Given the description of an element on the screen output the (x, y) to click on. 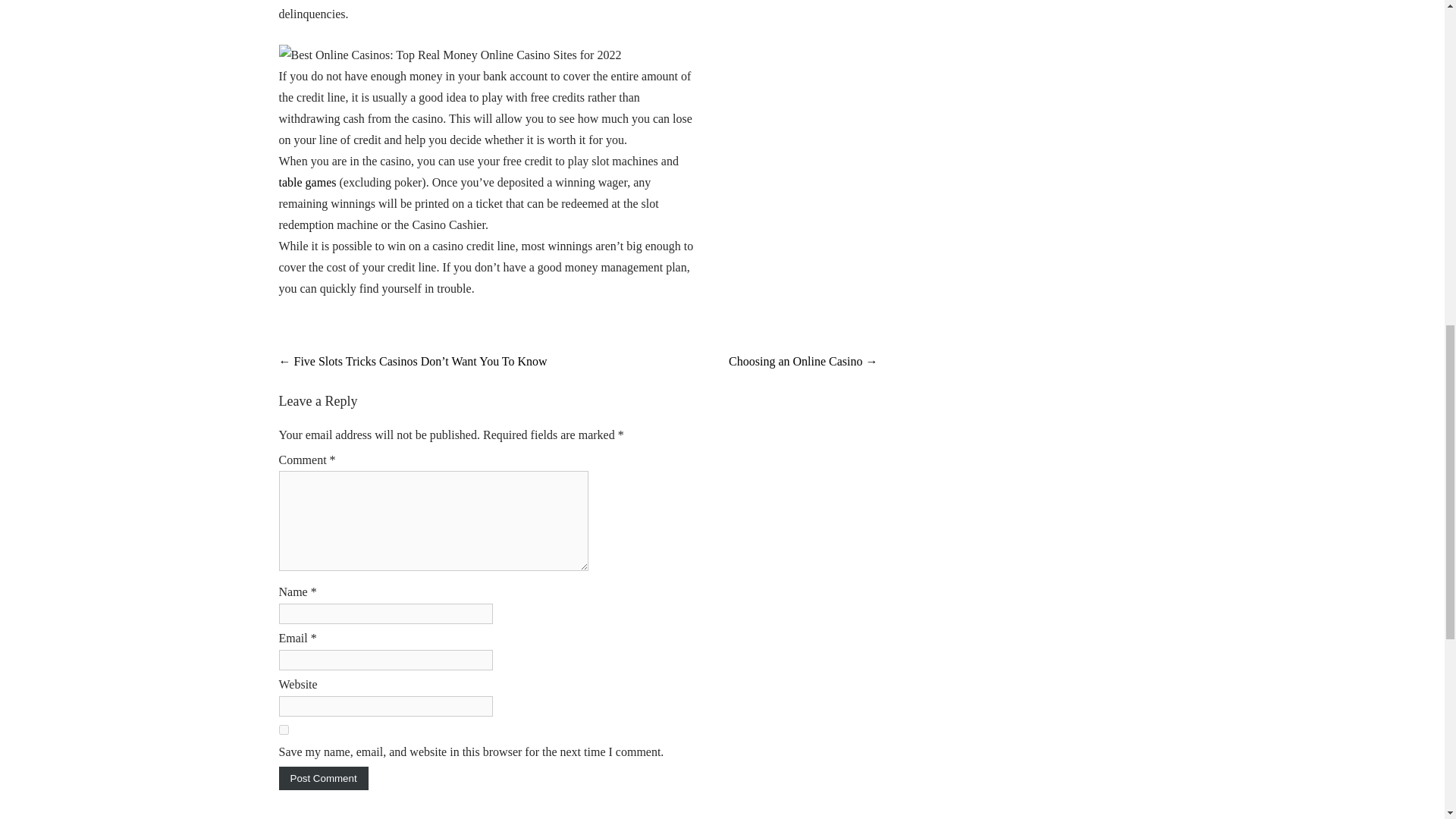
yes (283, 729)
table games (307, 182)
Post Comment (323, 778)
Post Comment (323, 778)
